Given the description of an element on the screen output the (x, y) to click on. 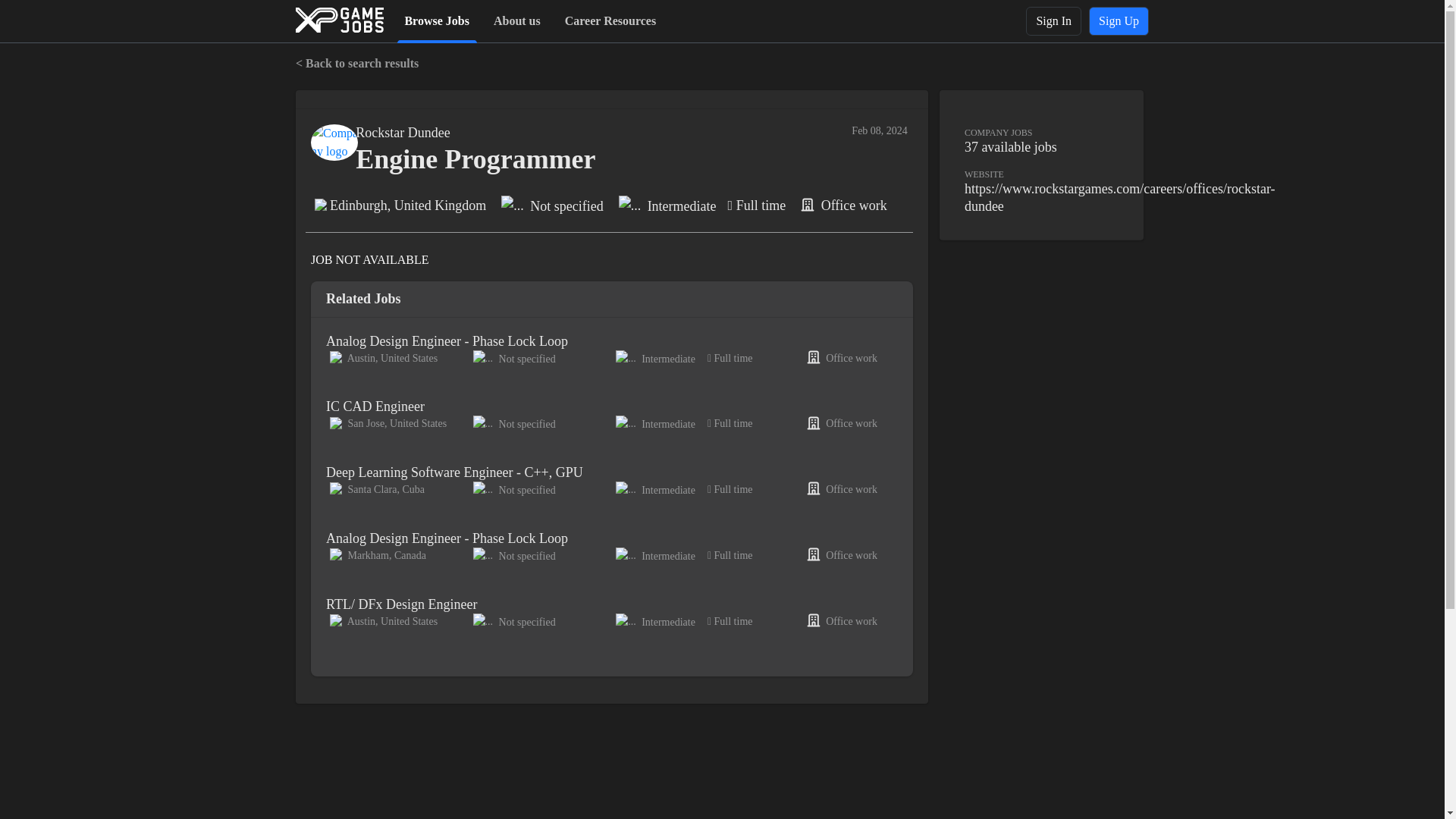
Sign In (1053, 21)
Career Resources (610, 20)
Rockstar Dundee (402, 132)
Sign Up (1118, 21)
Browse Jobs (436, 20)
About us (517, 20)
